Given the description of an element on the screen output the (x, y) to click on. 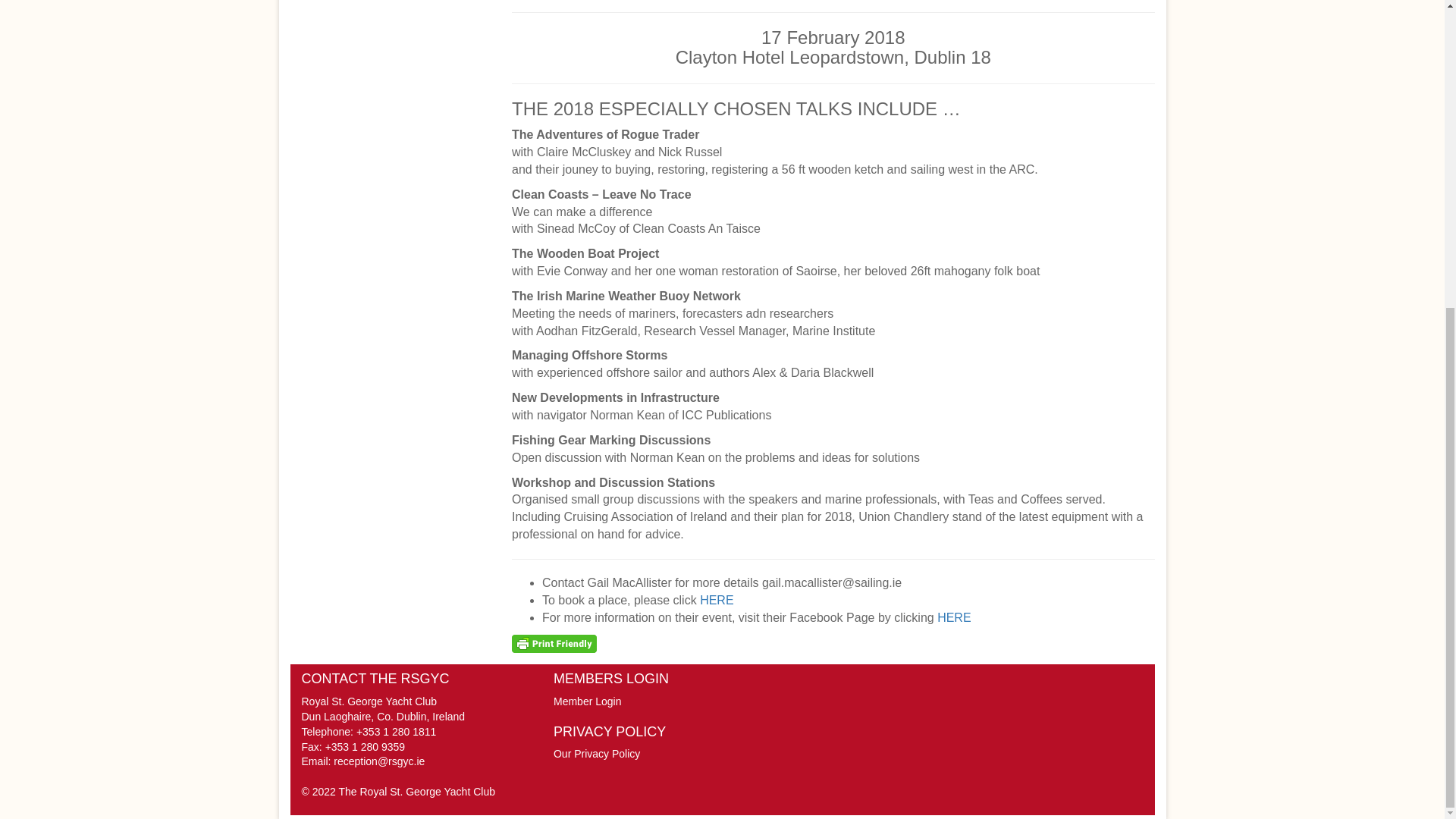
Privacy Policy (596, 753)
Member Login (587, 701)
